Given the description of an element on the screen output the (x, y) to click on. 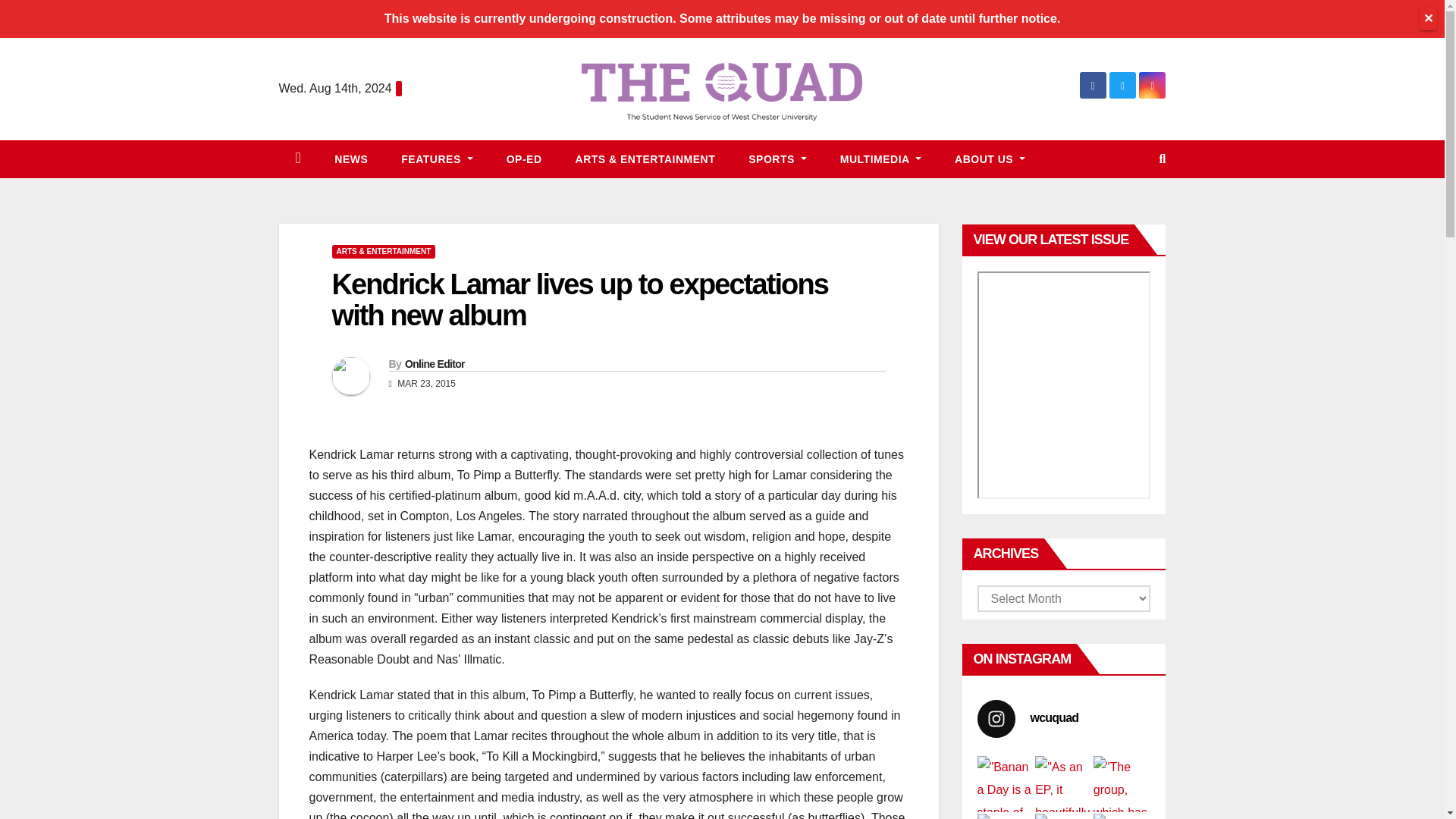
MULTIMEDIA (880, 159)
Sports (778, 159)
FEATURES (436, 159)
OP-ED (524, 159)
Features (436, 159)
ABOUT US (989, 159)
SPORTS (778, 159)
Op-Ed (524, 159)
NEWS (350, 159)
News (350, 159)
